Given the description of an element on the screen output the (x, y) to click on. 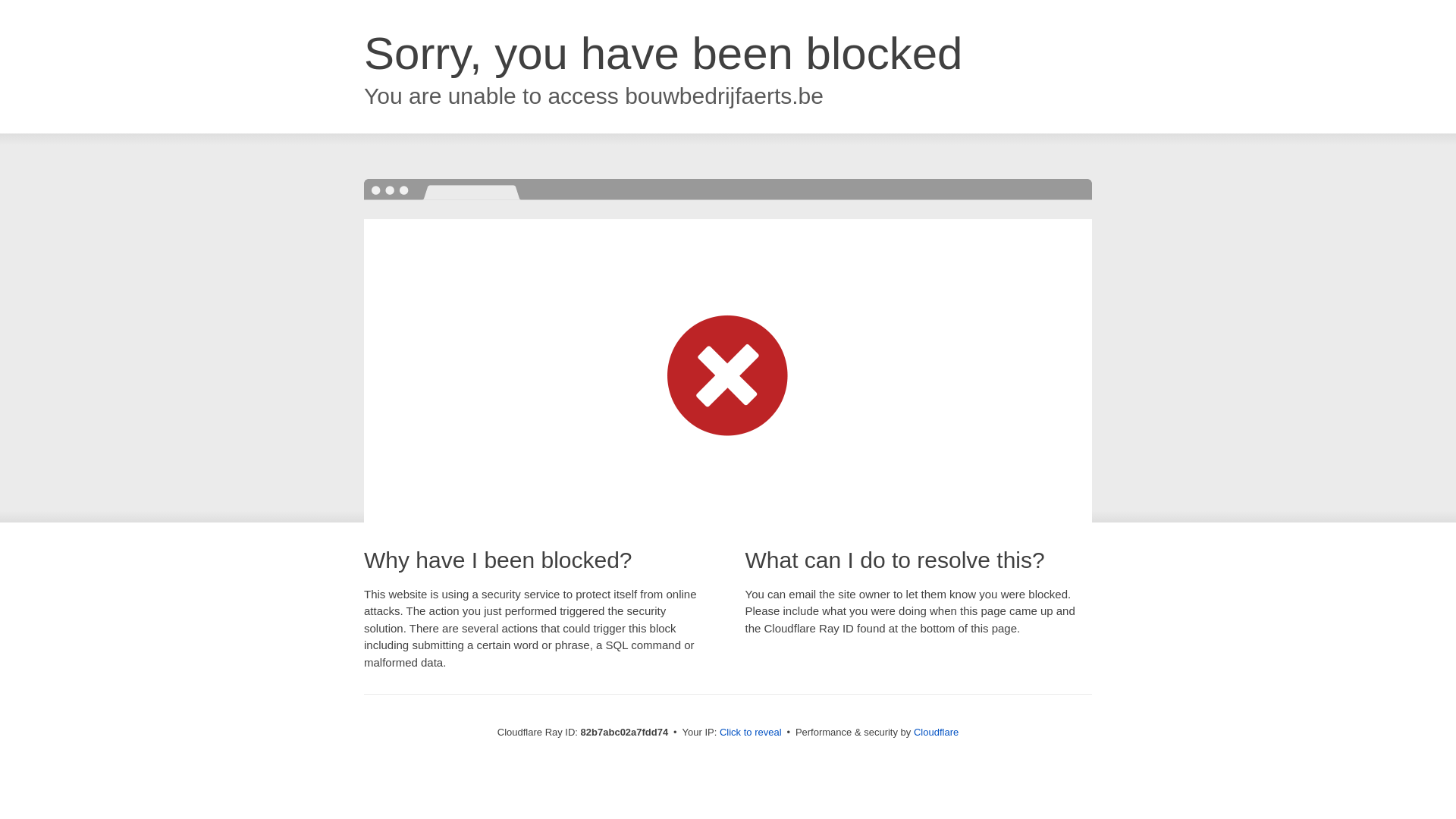
Cloudflare Element type: text (935, 731)
Click to reveal Element type: text (750, 732)
